Given the description of an element on the screen output the (x, y) to click on. 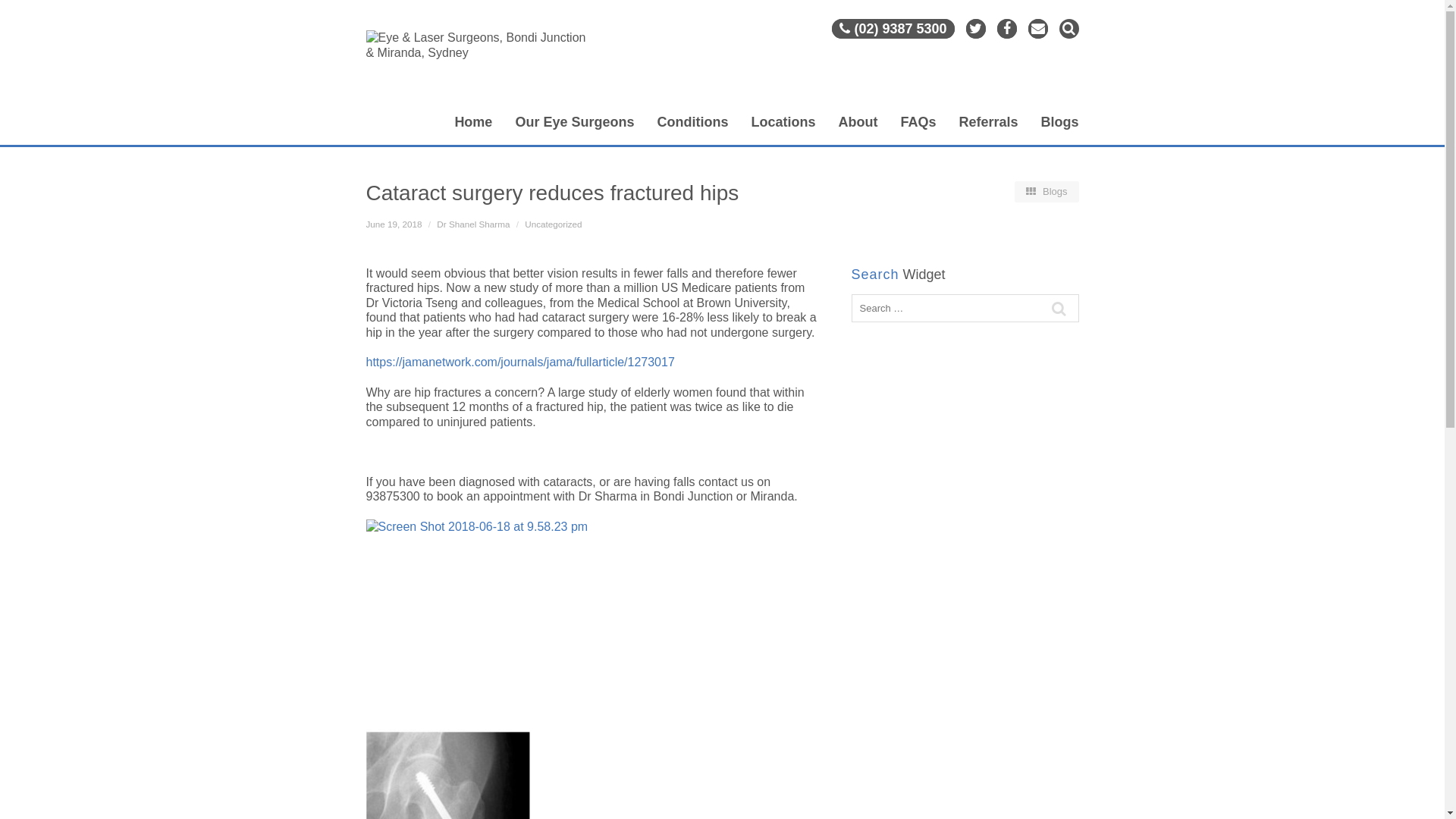
Our Eye Surgeons Element type: text (574, 130)
Blogs Element type: text (1059, 130)
FAQs Element type: text (917, 130)
Locations Element type: text (782, 130)
About Element type: text (857, 130)
Eye & Laser Surgeons, Bondi Junction & Miranda, Sydney Element type: hover (475, 66)
Blogs Element type: text (1044, 191)
Uncategorized Element type: text (552, 224)
Dr Shanel Sharma Element type: text (472, 224)
Referrals Element type: text (988, 130)
https://jamanetwork.com/journals/jama/fullarticle/1273017 Element type: text (519, 361)
Home Element type: text (472, 130)
Conditions Element type: text (692, 130)
(02) 9387 5300 Element type: text (892, 28)
